Given the description of an element on the screen output the (x, y) to click on. 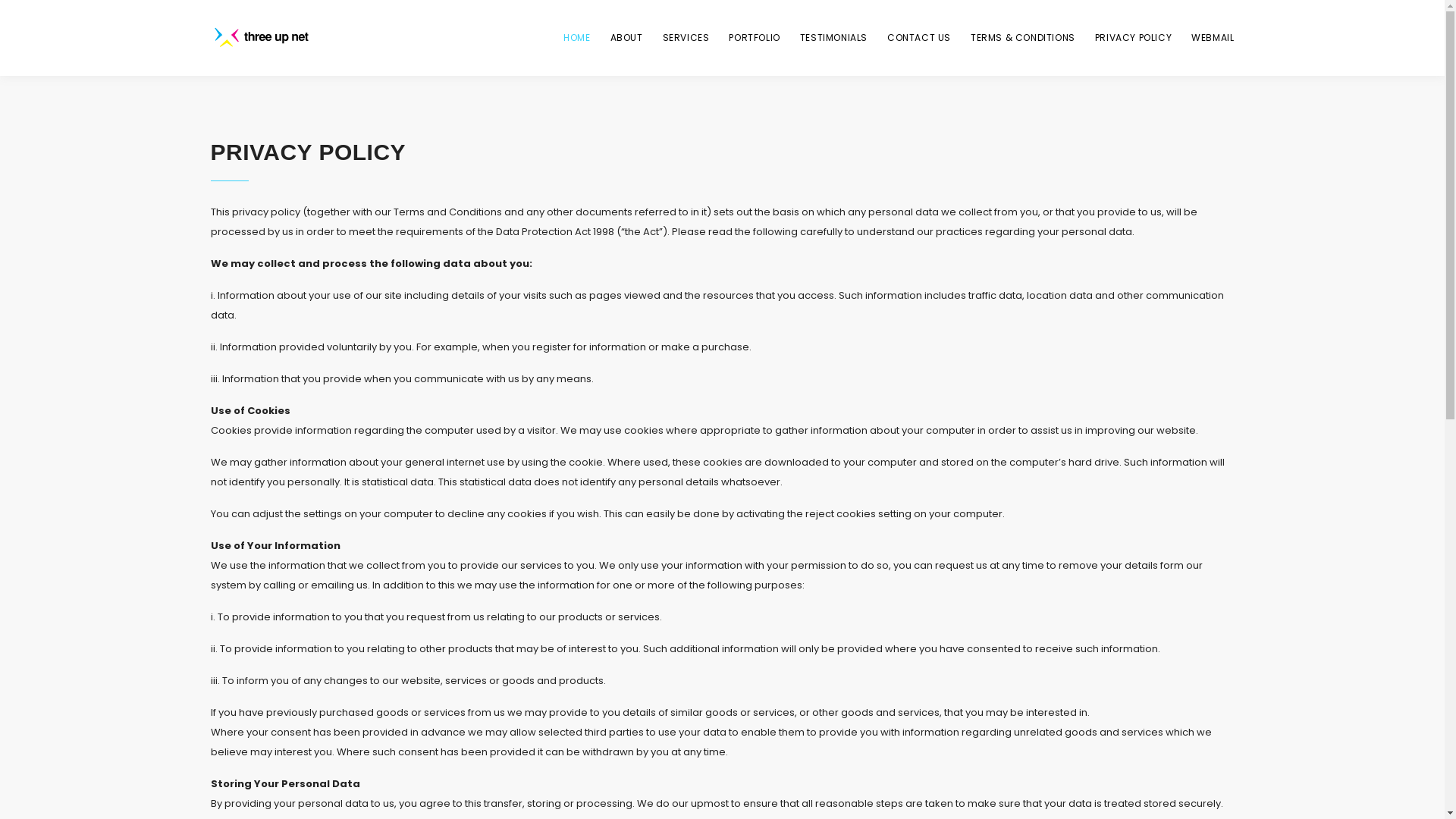
PORTFOLIO Element type: text (753, 37)
TERMS & CONDITIONS Element type: text (1022, 37)
PRIVACY POLICY Element type: text (1133, 37)
ABOUT Element type: text (626, 37)
SERVICES Element type: text (685, 37)
TESTIMONIALS Element type: text (833, 37)
WEBMAIL Element type: text (1212, 37)
HOME Element type: text (576, 37)
CONTACT US Element type: text (918, 37)
